Given the description of an element on the screen output the (x, y) to click on. 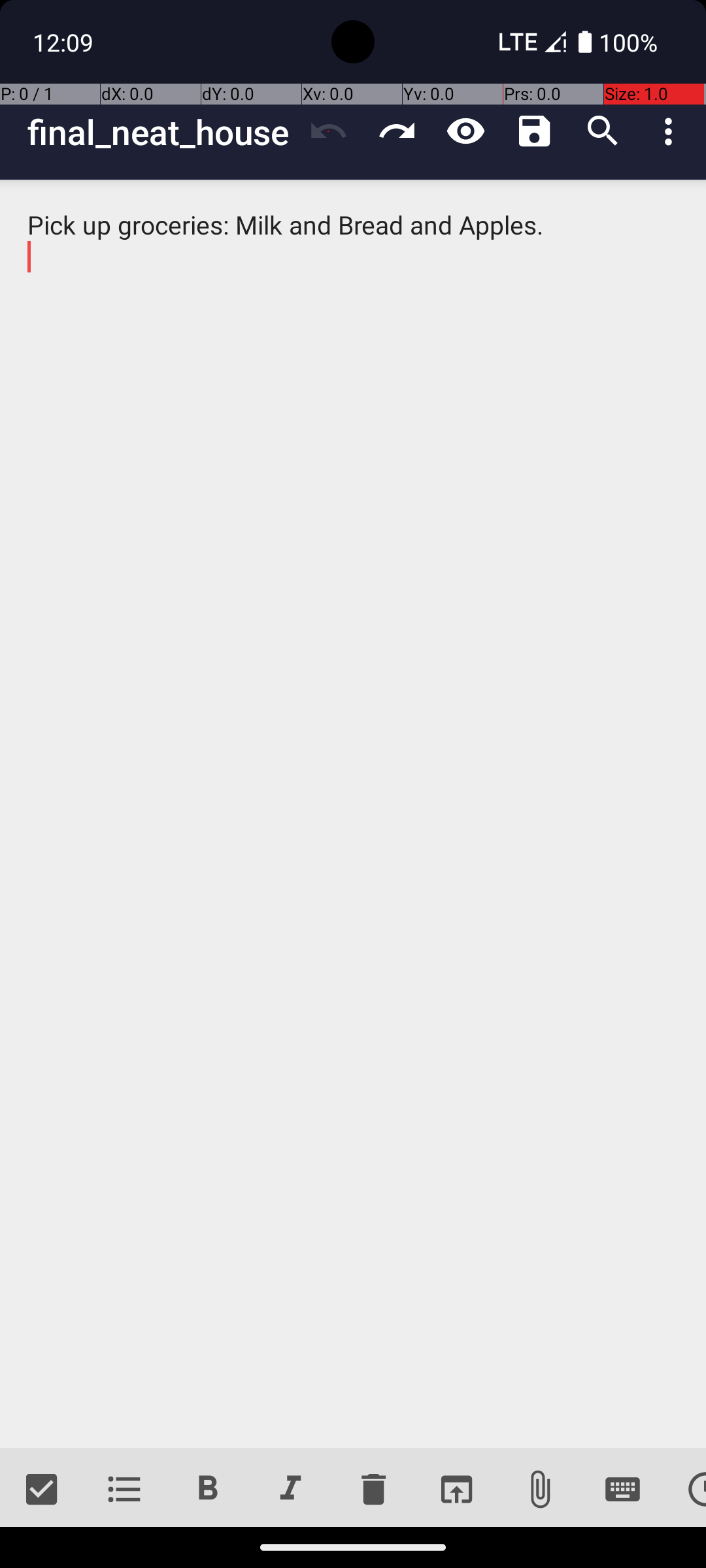
final_neat_house Element type: android.widget.TextView (160, 131)
Pick up groceries: Milk and Bread and Apples. Element type: android.widget.EditText (353, 813)
12:09 Element type: android.widget.TextView (64, 41)
